Given the description of an element on the screen output the (x, y) to click on. 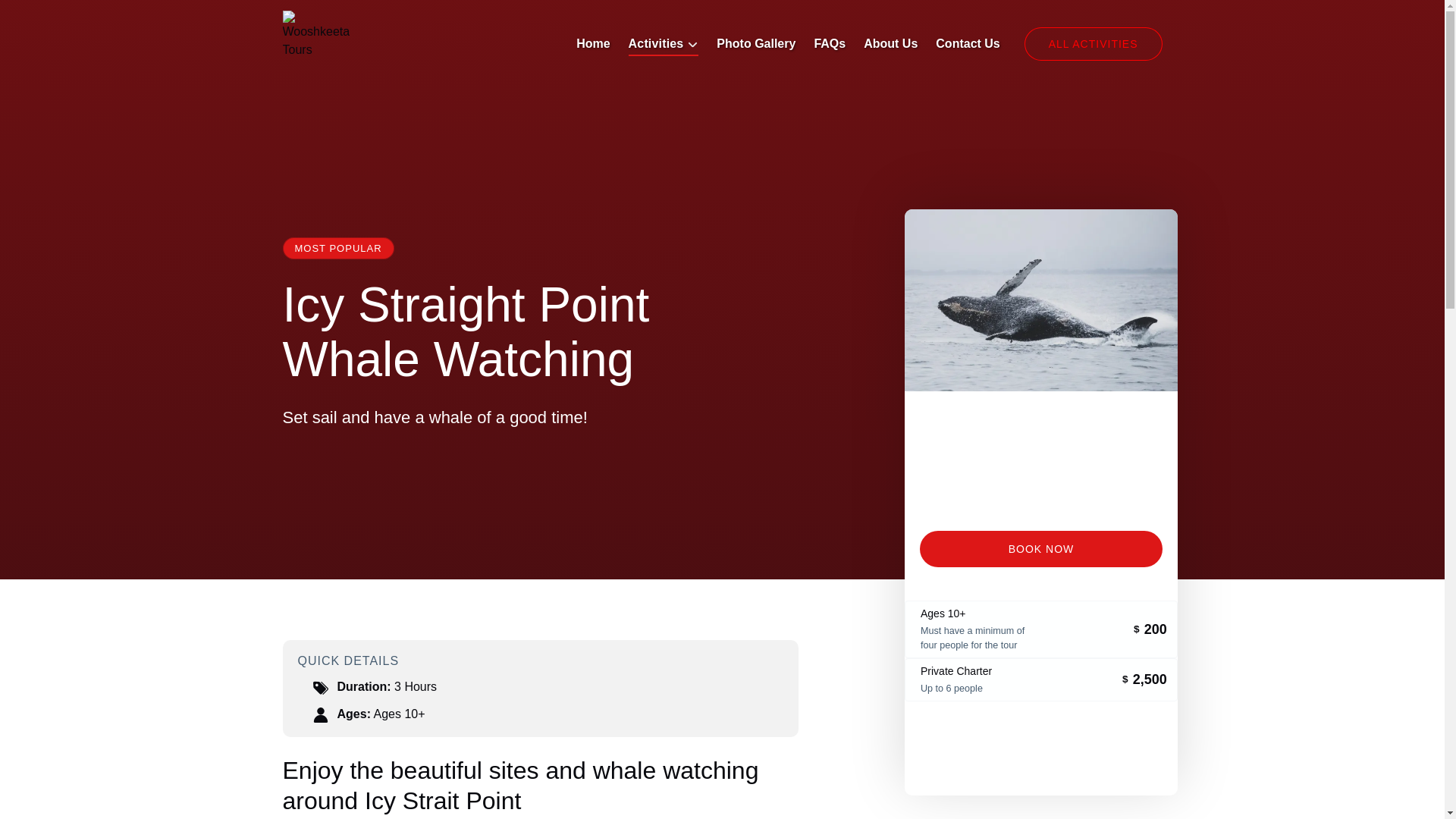
BOOK NOW (1039, 548)
Activities (663, 43)
FareHarbor (1040, 757)
Photo Gallery (756, 43)
ALL ACTIVITIES (1093, 43)
Skip to footer (42, 16)
Home (592, 43)
Skip to content (47, 16)
About Us (890, 43)
Tags (320, 687)
